Given the description of an element on the screen output the (x, y) to click on. 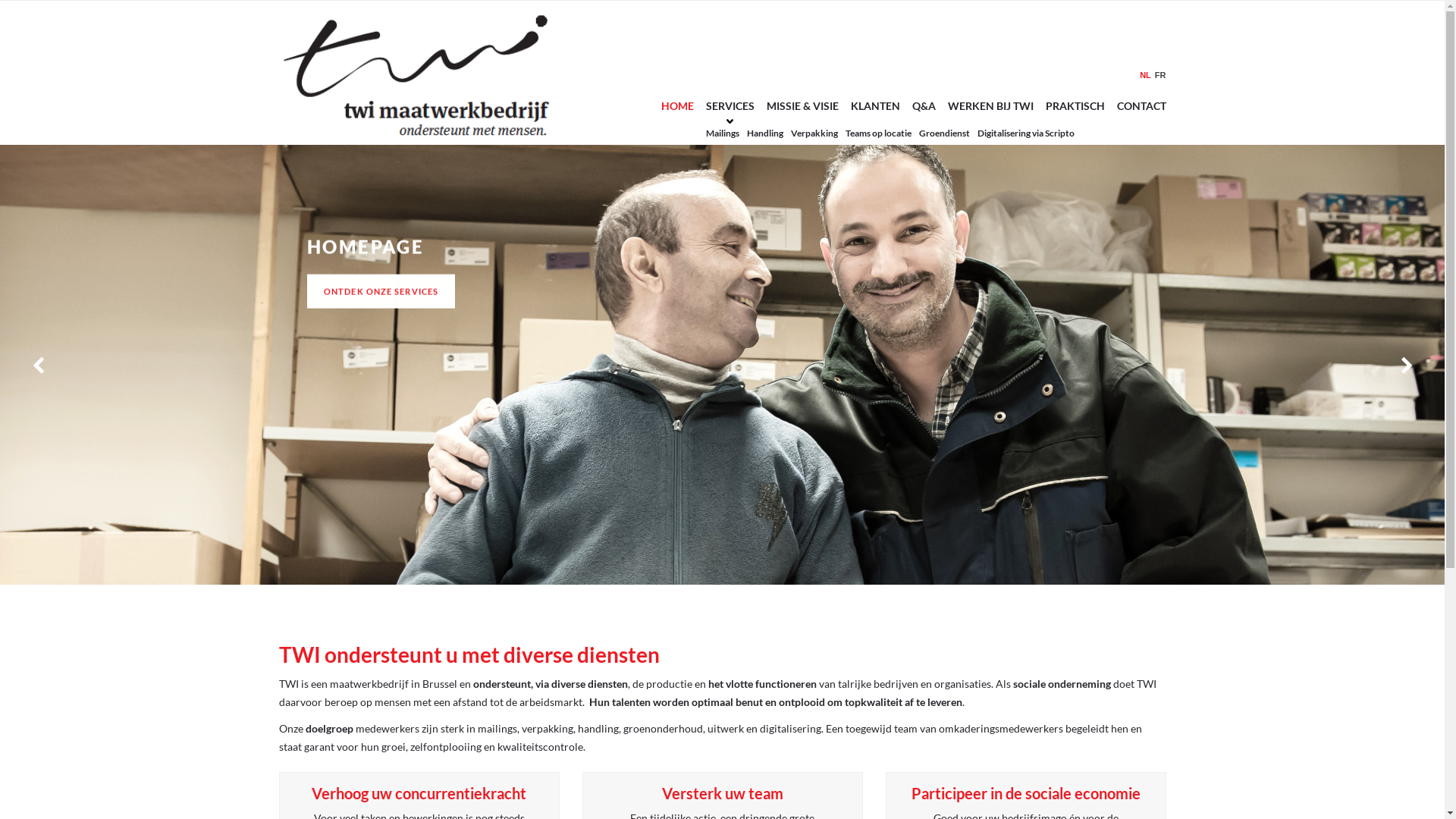
Groendienst Element type: text (948, 132)
FR Element type: text (1158, 75)
PRAKTISCH Element type: text (1074, 106)
ONTDEK ONZE SERVICES Element type: text (381, 291)
CONTACT Element type: text (1140, 106)
Verpakking Element type: text (817, 132)
HOME Element type: text (677, 106)
Teams op locatie Element type: text (881, 132)
SERVICES Element type: text (729, 106)
TWI -  Element type: hover (419, 72)
MISSIE & VISIE Element type: text (801, 106)
Handling Element type: text (768, 132)
WERKEN BIJ TWI Element type: text (990, 106)
NL Element type: text (1143, 75)
Q&A Element type: text (923, 106)
Digitalisering via Scripto Element type: text (1028, 132)
KLANTEN Element type: text (875, 106)
Mailings Element type: text (725, 132)
